Given the description of an element on the screen output the (x, y) to click on. 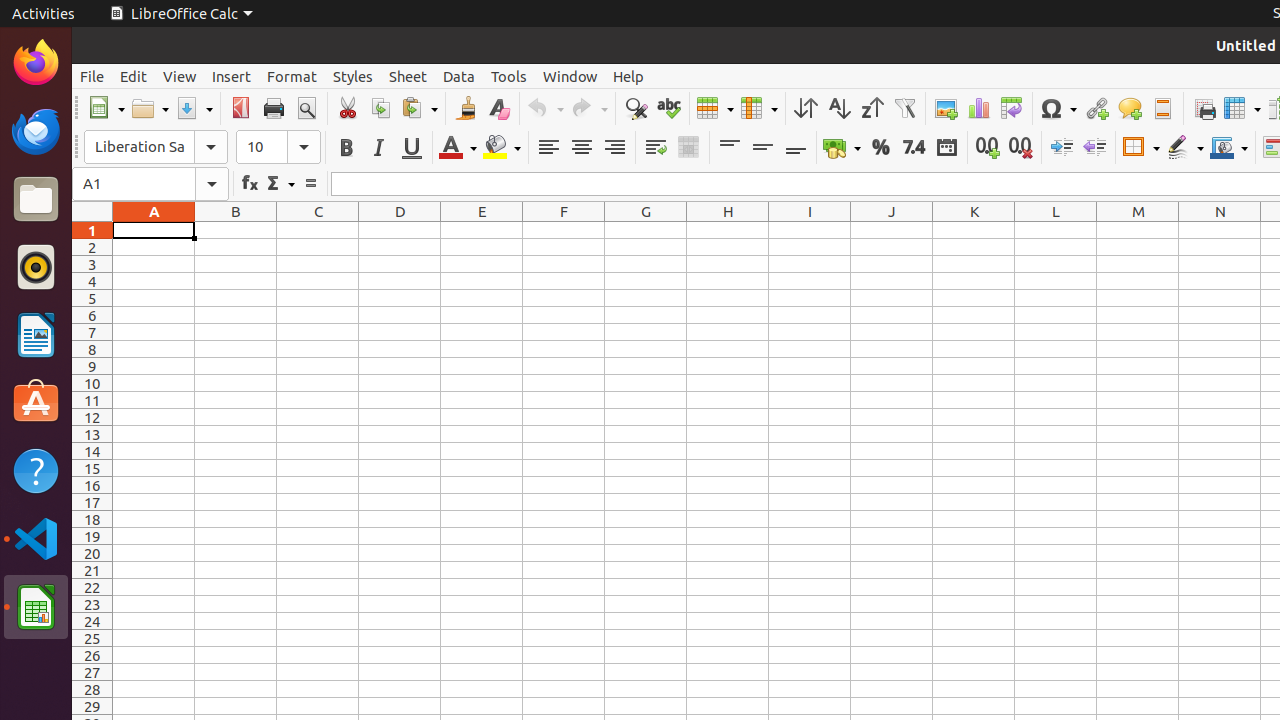
Align Right Element type: push-button (614, 147)
Print Element type: push-button (273, 108)
Rhythmbox Element type: push-button (36, 267)
M1 Element type: table-cell (1138, 230)
Insert Element type: menu (231, 76)
